Given the description of an element on the screen output the (x, y) to click on. 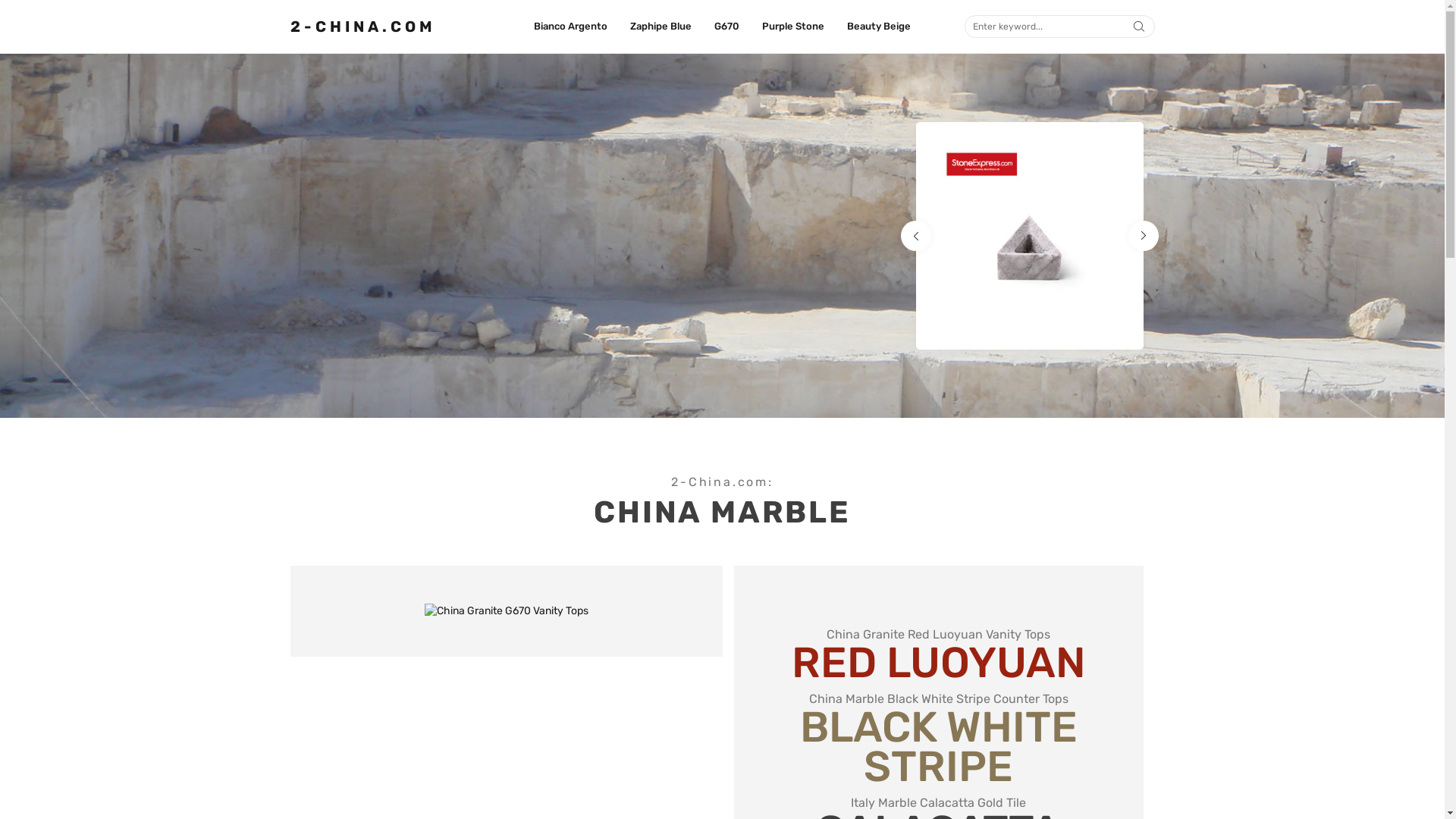
China Granite G670 Vanity Tops Element type: hover (506, 610)
Bianco Argento Element type: text (570, 26)
Purple Stone Element type: text (793, 26)
BLACK WHITE STRIPE Element type: text (937, 746)
Zaphipe Blue Element type: text (660, 26)
G670 Element type: text (726, 26)
RED LUOYUAN Element type: text (938, 662)
2-CHINA.COM Element type: text (362, 26)
Beauty Beige Element type: text (878, 26)
